Given the description of an element on the screen output the (x, y) to click on. 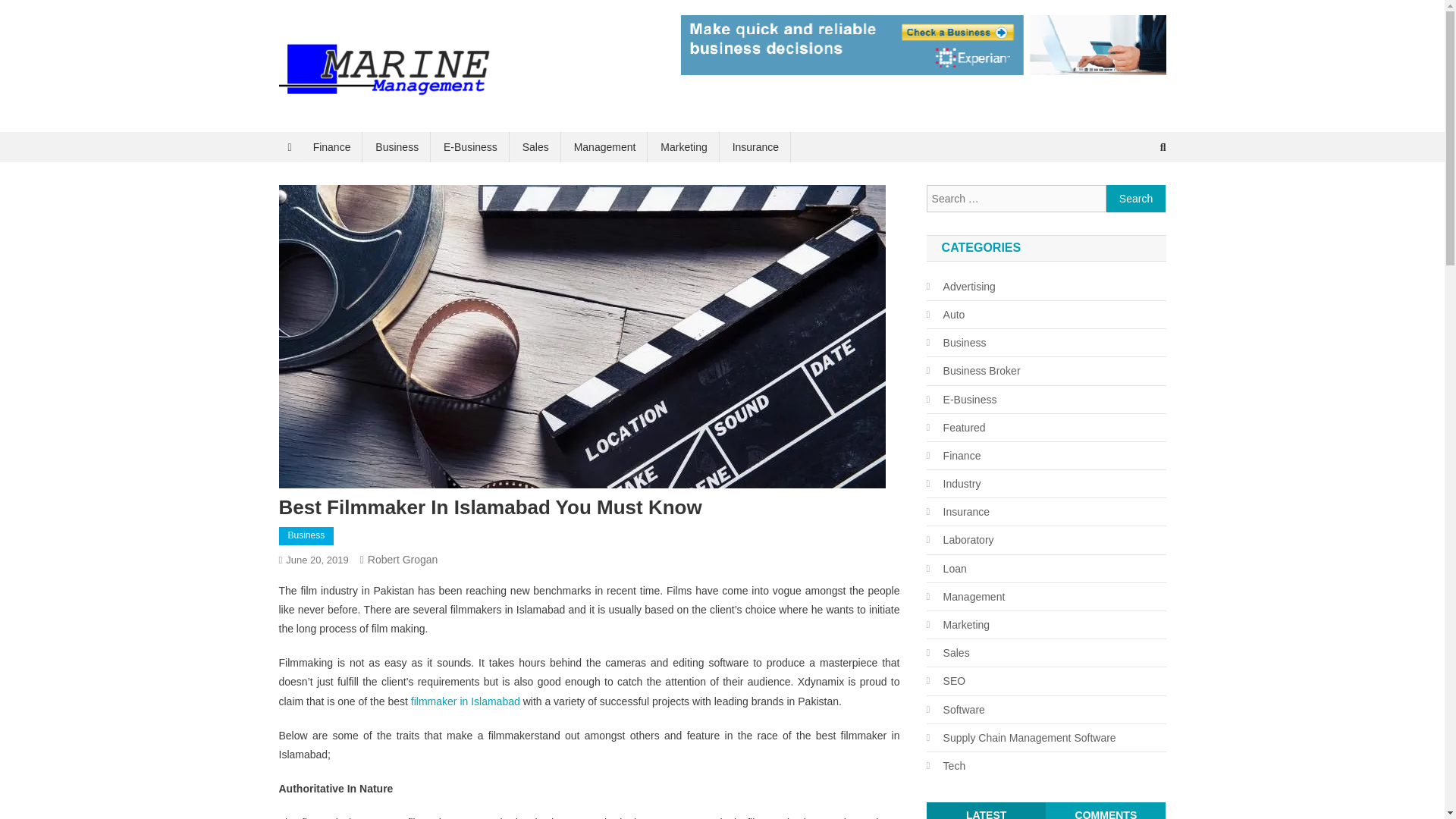
Search (1133, 197)
Advertising (960, 286)
June 20, 2019 (316, 559)
Business (956, 342)
Search (1136, 198)
Search (1136, 198)
E-Business (469, 146)
Search (1136, 198)
Business Broker (973, 370)
Robert Grogan (403, 559)
Finance (331, 146)
Auto (945, 314)
E-Business (961, 399)
Business (396, 146)
Sales (535, 146)
